Given the description of an element on the screen output the (x, y) to click on. 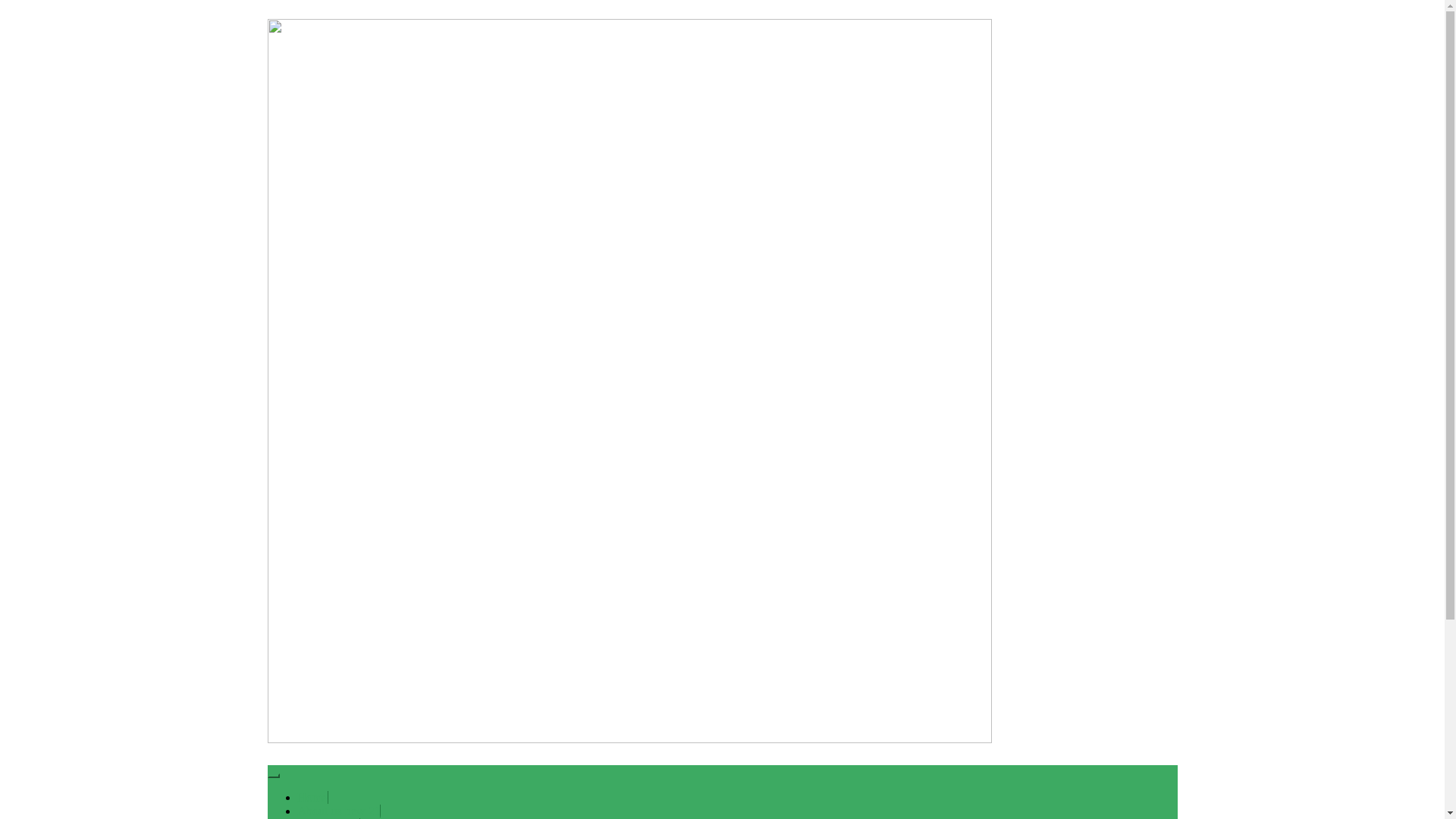
Toggle navigation Element type: text (272, 775)
Home Element type: text (312, 796)
About us new 21 Element type: text (338, 810)
